Given the description of an element on the screen output the (x, y) to click on. 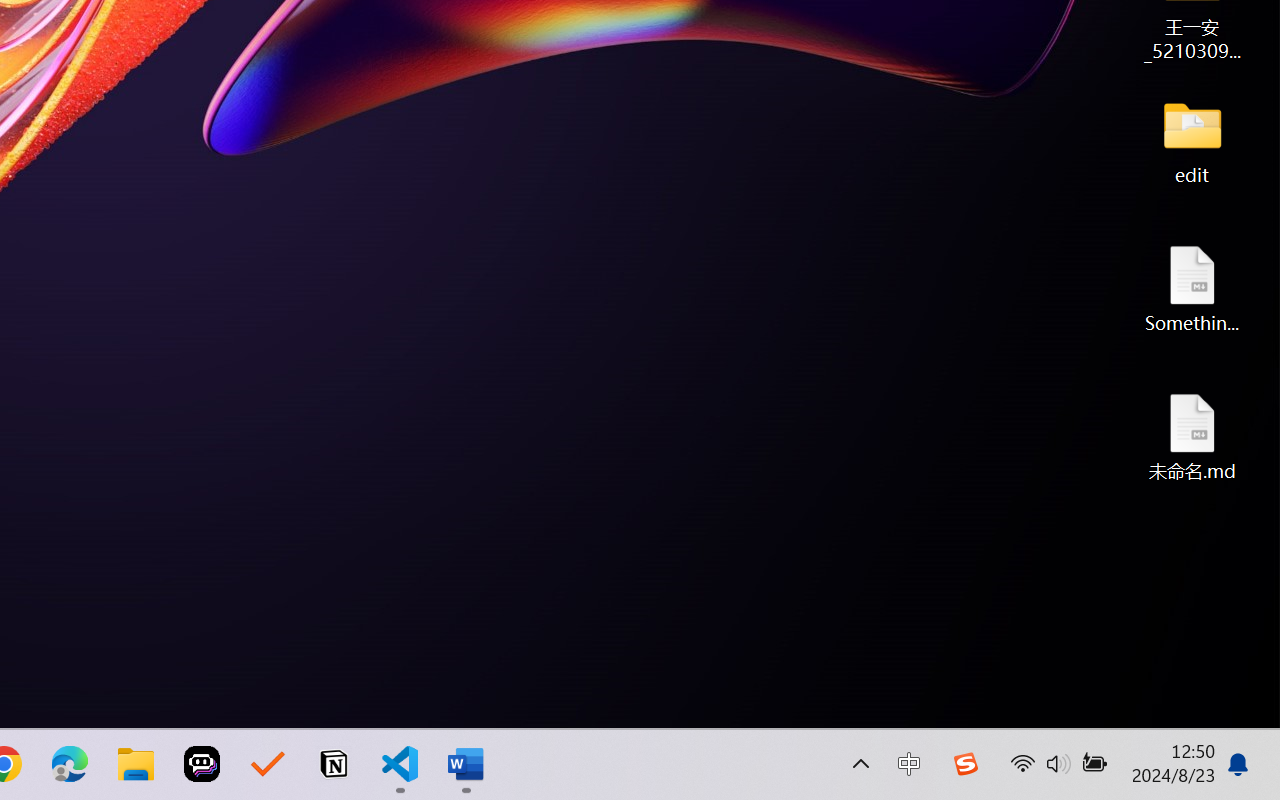
Microsoft Edge (69, 764)
edit (1192, 140)
